Given the description of an element on the screen output the (x, y) to click on. 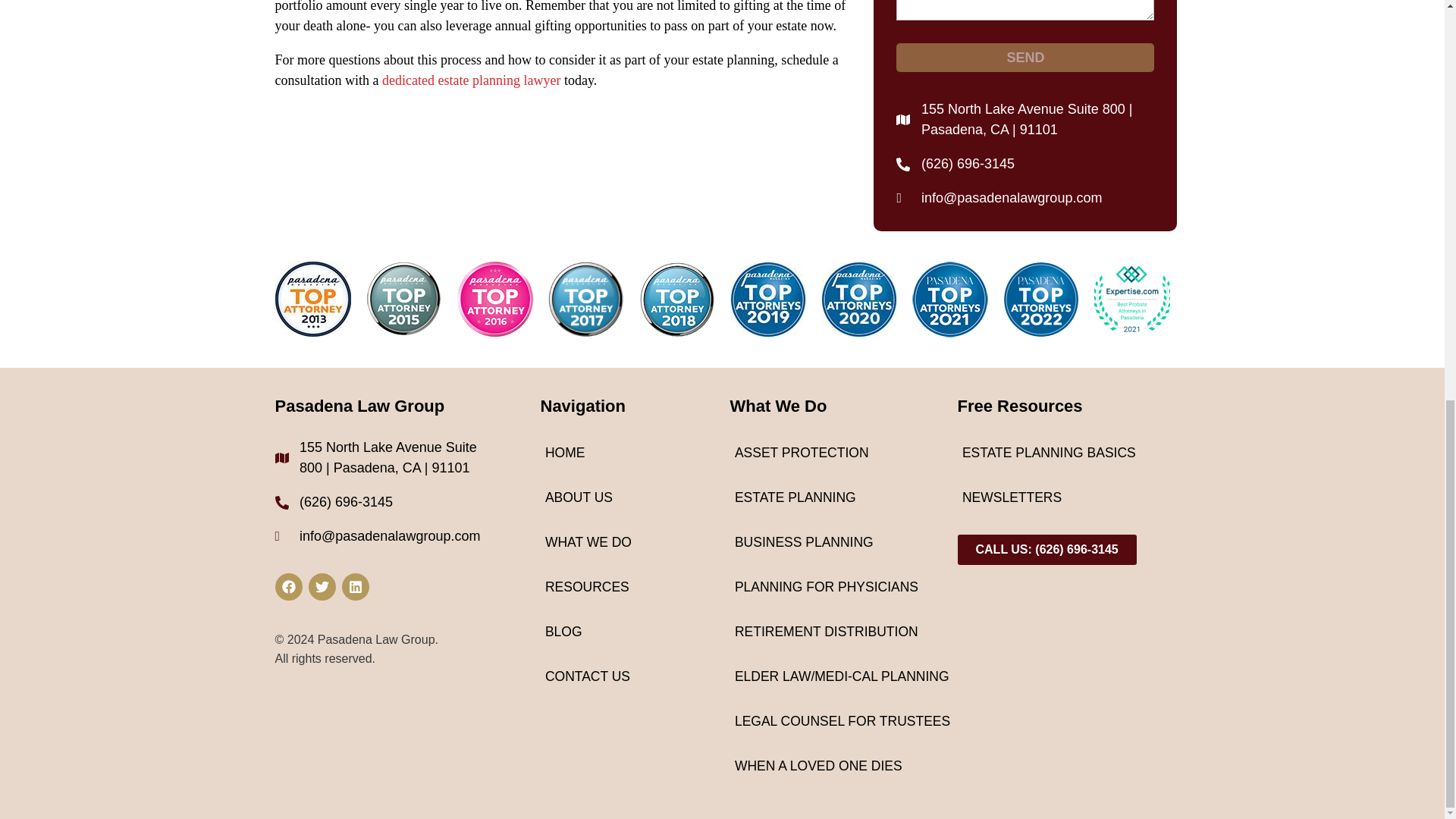
SEND (1025, 57)
SEND (1025, 57)
dedicated estate planning lawyer (470, 79)
